Given the description of an element on the screen output the (x, y) to click on. 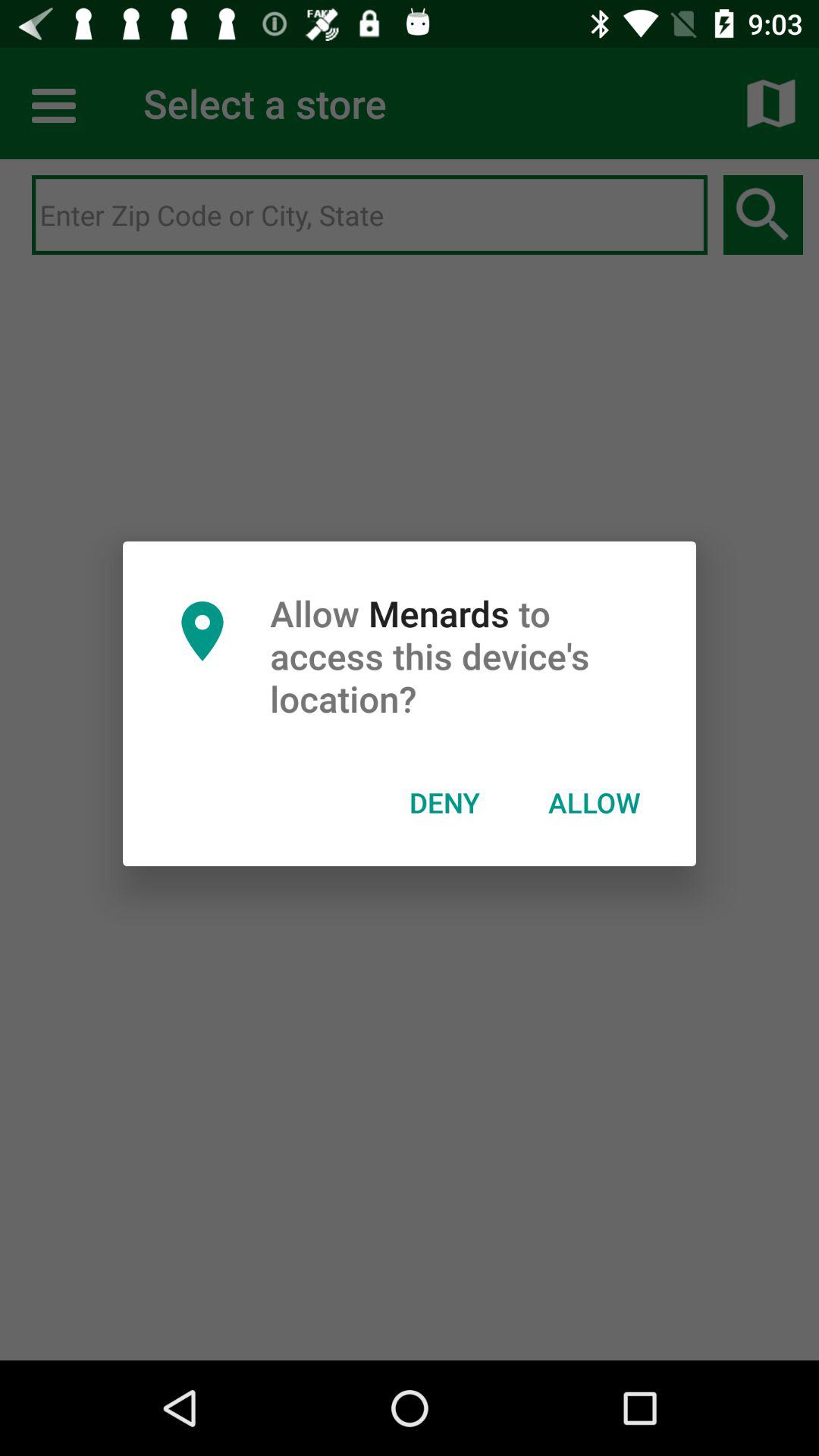
menu options (55, 103)
